Given the description of an element on the screen output the (x, y) to click on. 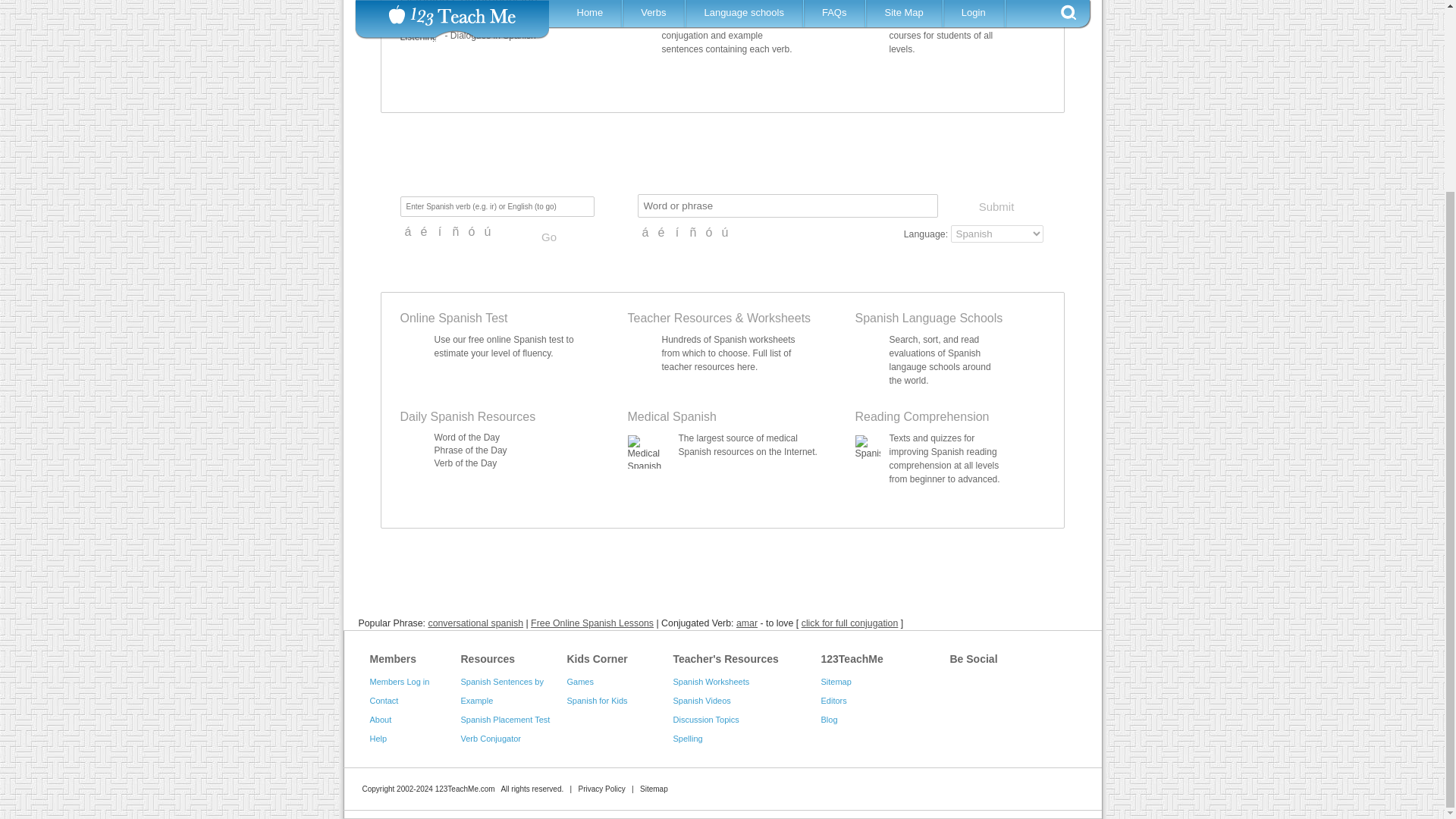
Free Spanish Courses (901, 3)
Go (548, 237)
Spanish Verb Conjugation (697, 3)
Spanish Language Schools (929, 318)
Online Spanish Worksheets (778, 318)
Submit (995, 207)
Spanish Teacher (679, 318)
Free Spanish Test (454, 318)
Spanish Listening Comprehension (478, 21)
